Given the description of an element on the screen output the (x, y) to click on. 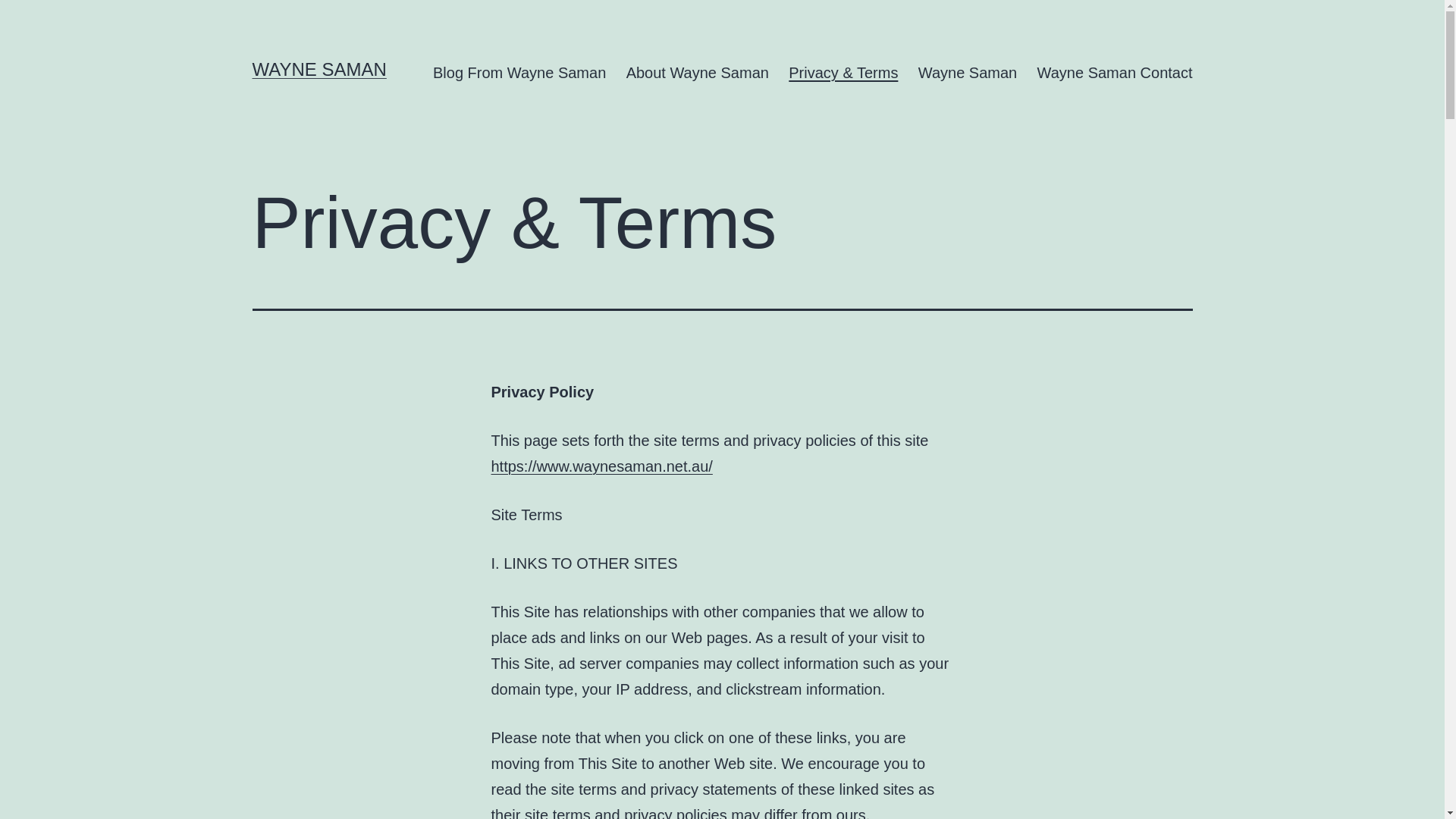
About Wayne Saman Element type: text (696, 72)
Wayne Saman Element type: text (967, 72)
Wayne Saman Contact Element type: text (1113, 72)
WAYNE SAMAN Element type: text (318, 69)
Blog From Wayne Saman Element type: text (519, 72)
https://www.waynesaman.net.au/ Element type: text (601, 466)
Privacy & Terms Element type: text (842, 72)
